Given the description of an element on the screen output the (x, y) to click on. 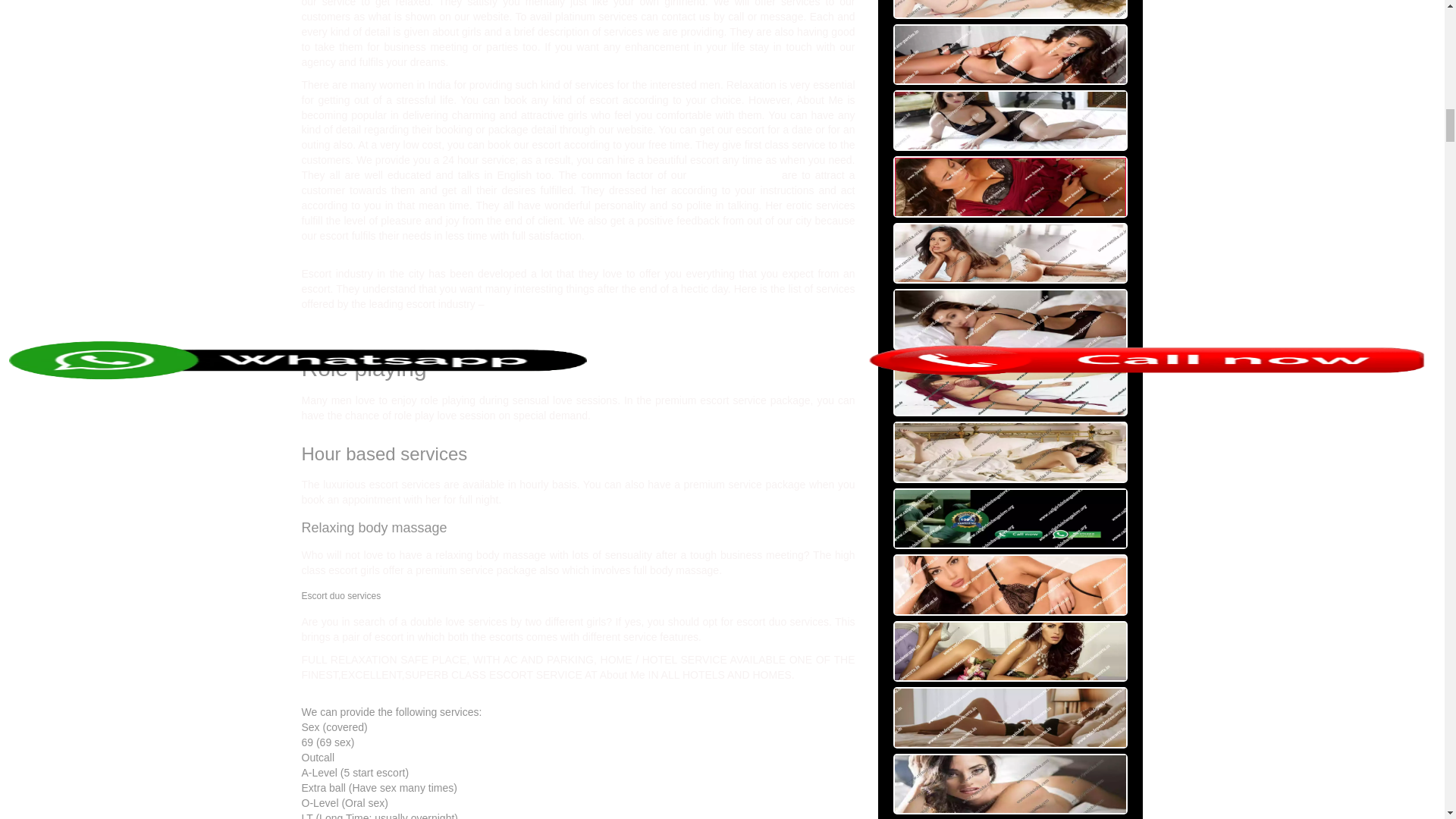
Udaipur Escort (733, 174)
About Me escort (733, 174)
